Given the description of an element on the screen output the (x, y) to click on. 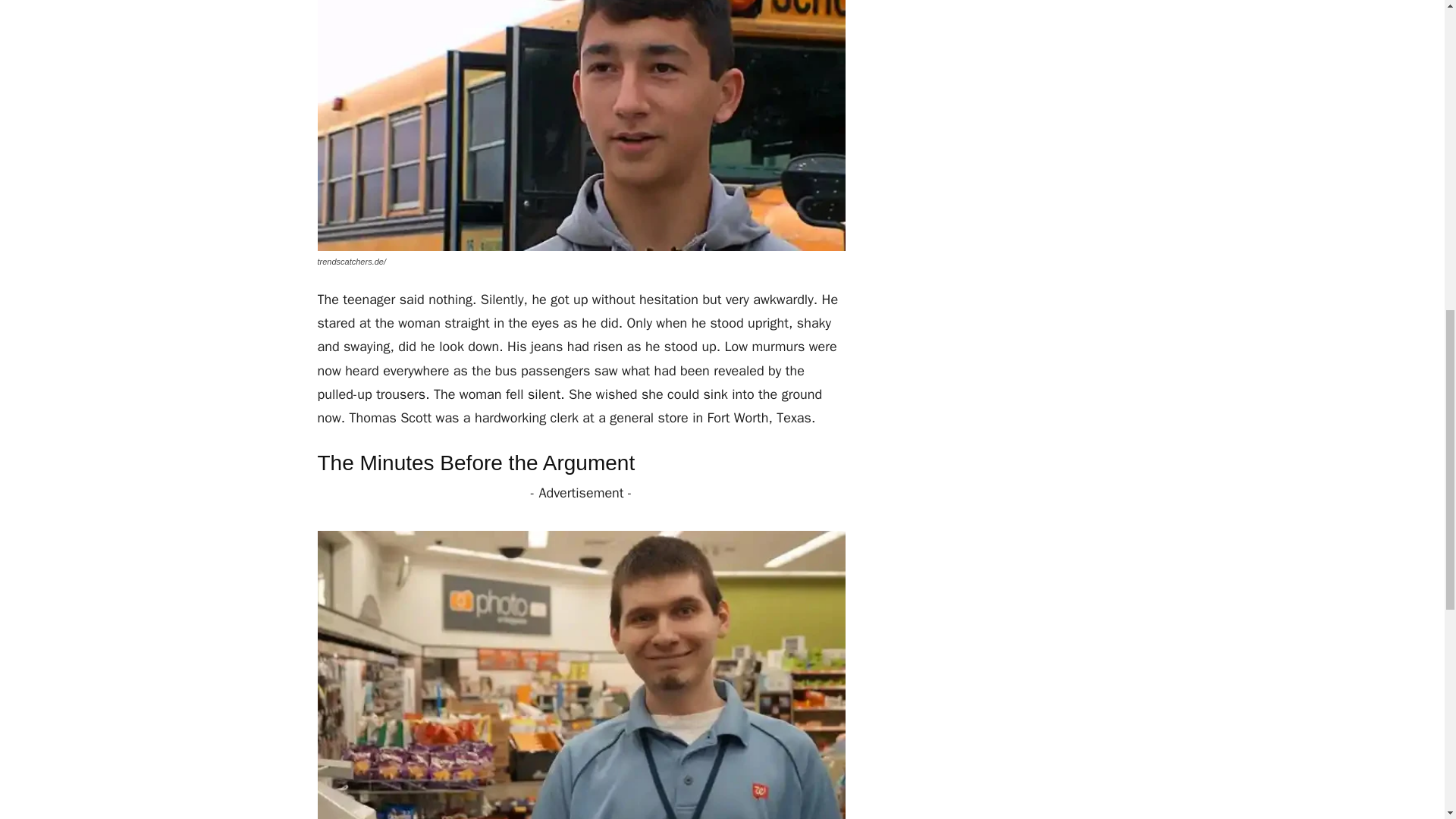
Advertisement (1003, 31)
